Given the description of an element on the screen output the (x, y) to click on. 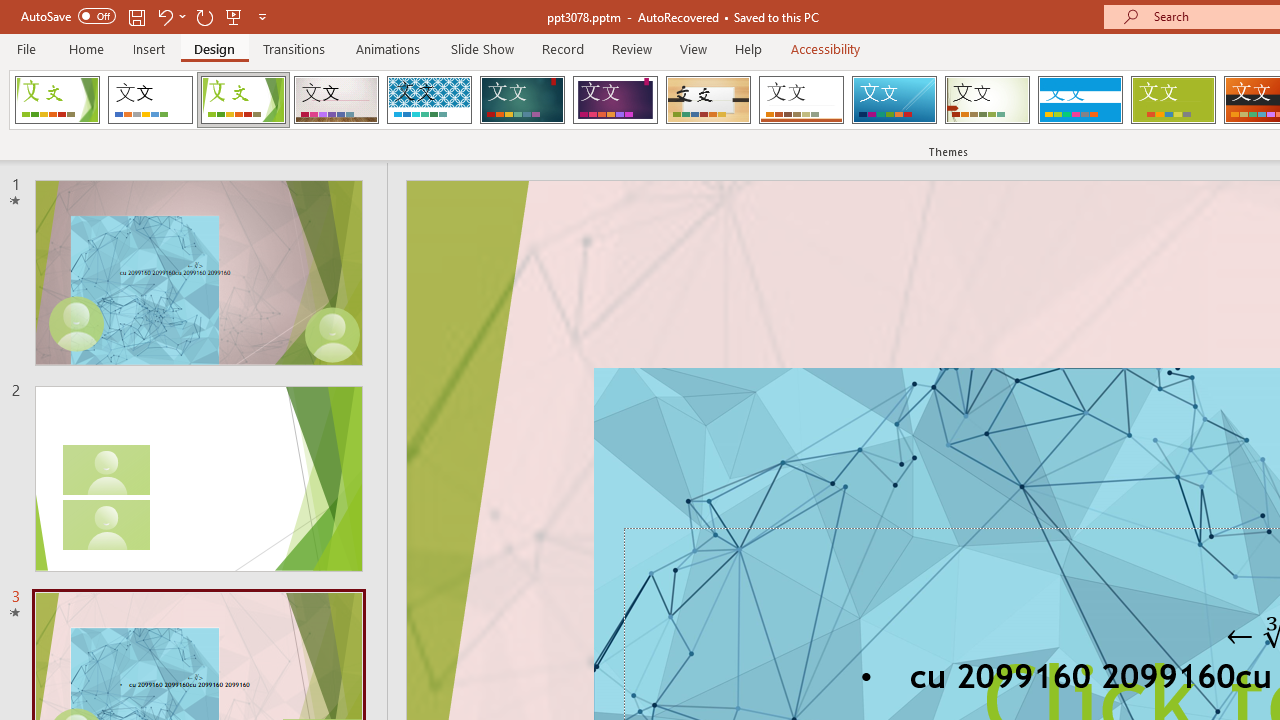
Facet (243, 100)
